Given the description of an element on the screen output the (x, y) to click on. 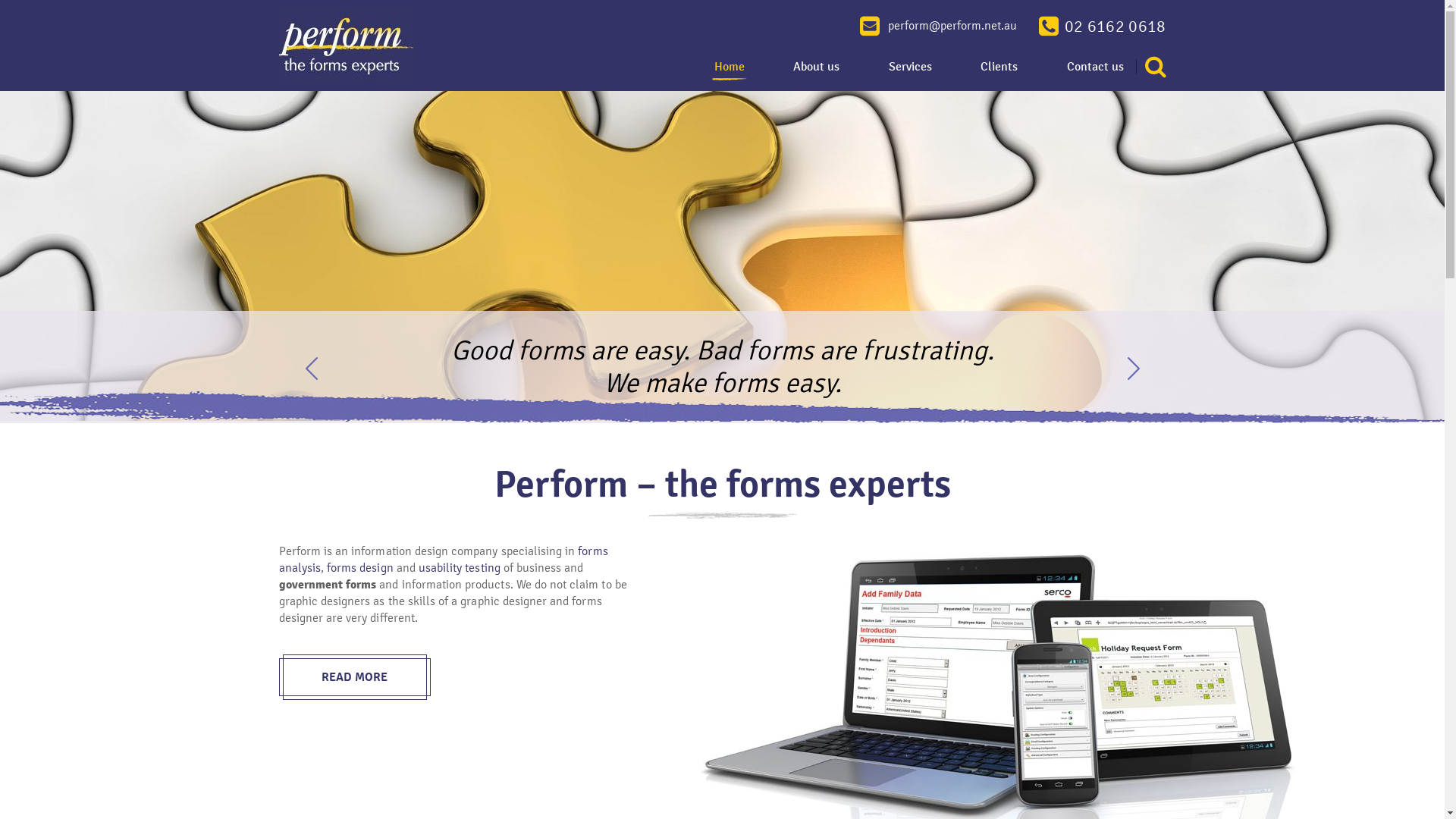
perform@perform.net.au Element type: text (937, 24)
READ MORE Element type: text (354, 676)
Clients Element type: text (998, 72)
Home Element type: text (728, 72)
Government Forms Element type: hover (345, 44)
usability testing Element type: text (459, 567)
Contact us Element type: text (1095, 72)
Services Element type: text (909, 72)
forms design Element type: text (359, 567)
02 6162 0618 Element type: text (1102, 25)
forms analysis Element type: text (443, 559)
About us Element type: text (815, 72)
